Given the description of an element on the screen output the (x, y) to click on. 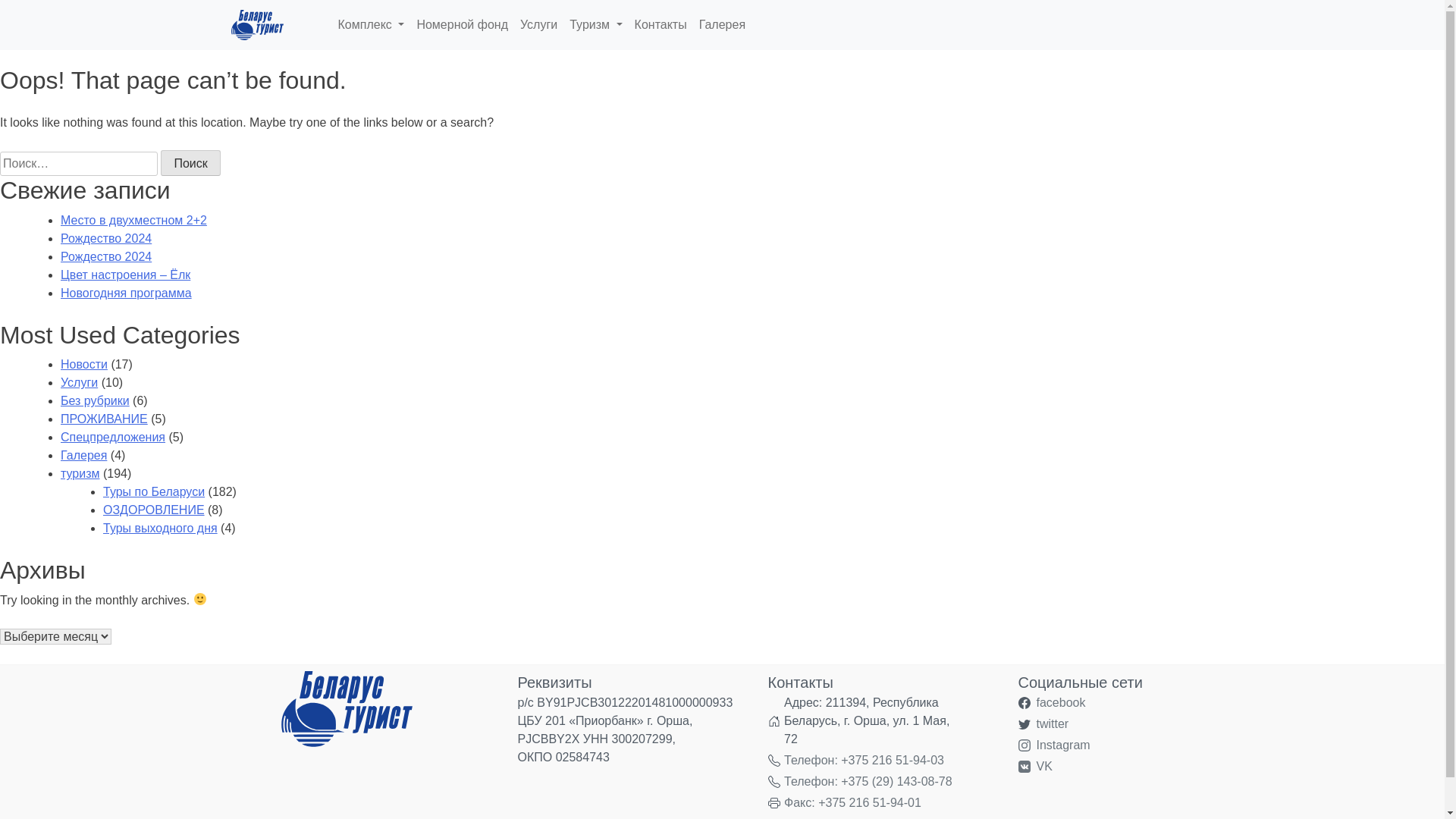
Instagram Element type: text (1062, 745)
twitter Element type: text (1051, 724)
VK Element type: text (1043, 766)
facebook Element type: text (1060, 702)
